Given the description of an element on the screen output the (x, y) to click on. 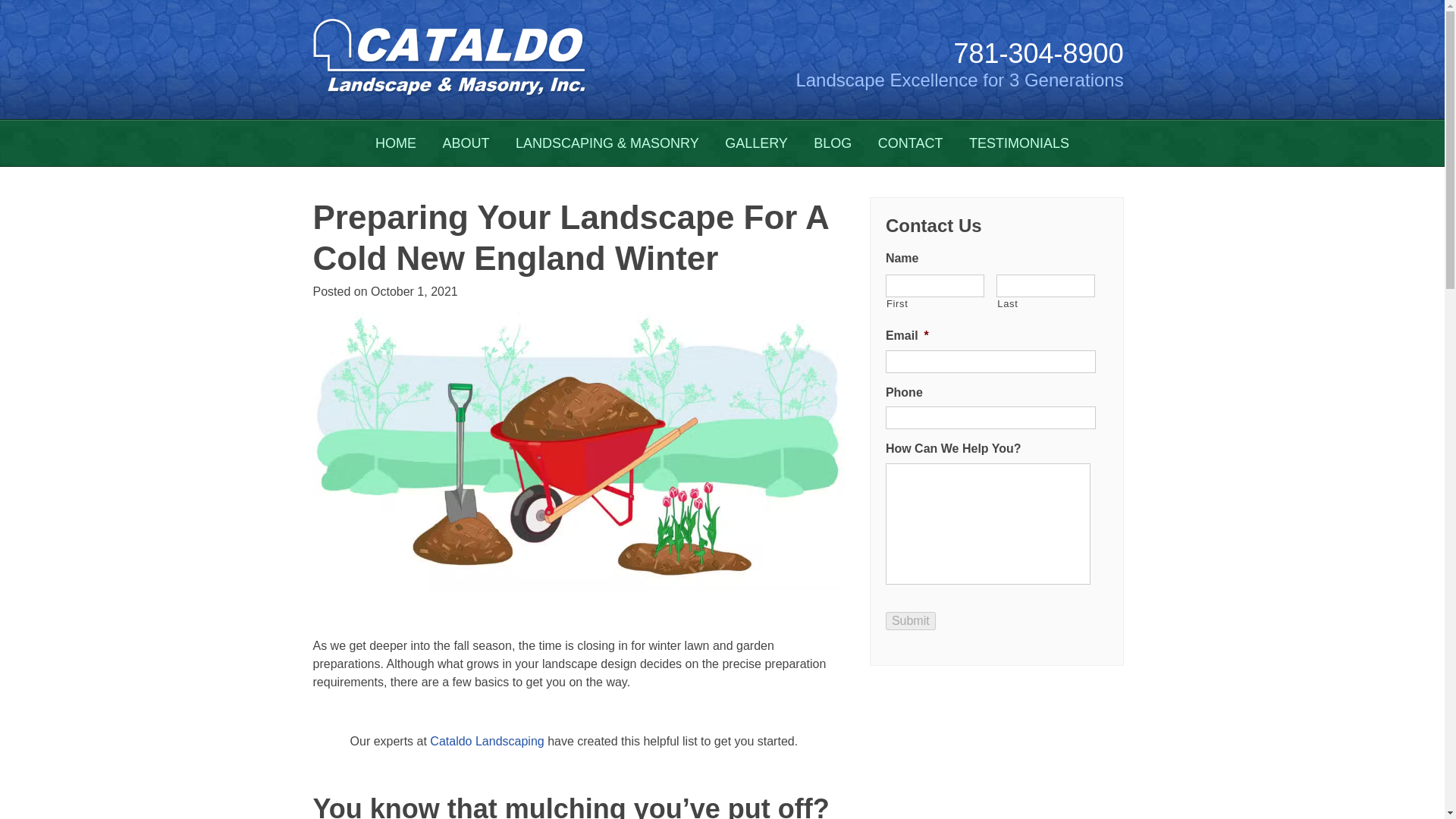
HOME (395, 143)
TESTIMONIALS (1018, 143)
ABOUT (465, 143)
Cataldo Landscaping (486, 740)
Submit (910, 620)
GALLERY (756, 143)
CONTACT (910, 143)
Submit (910, 620)
